Given the description of an element on the screen output the (x, y) to click on. 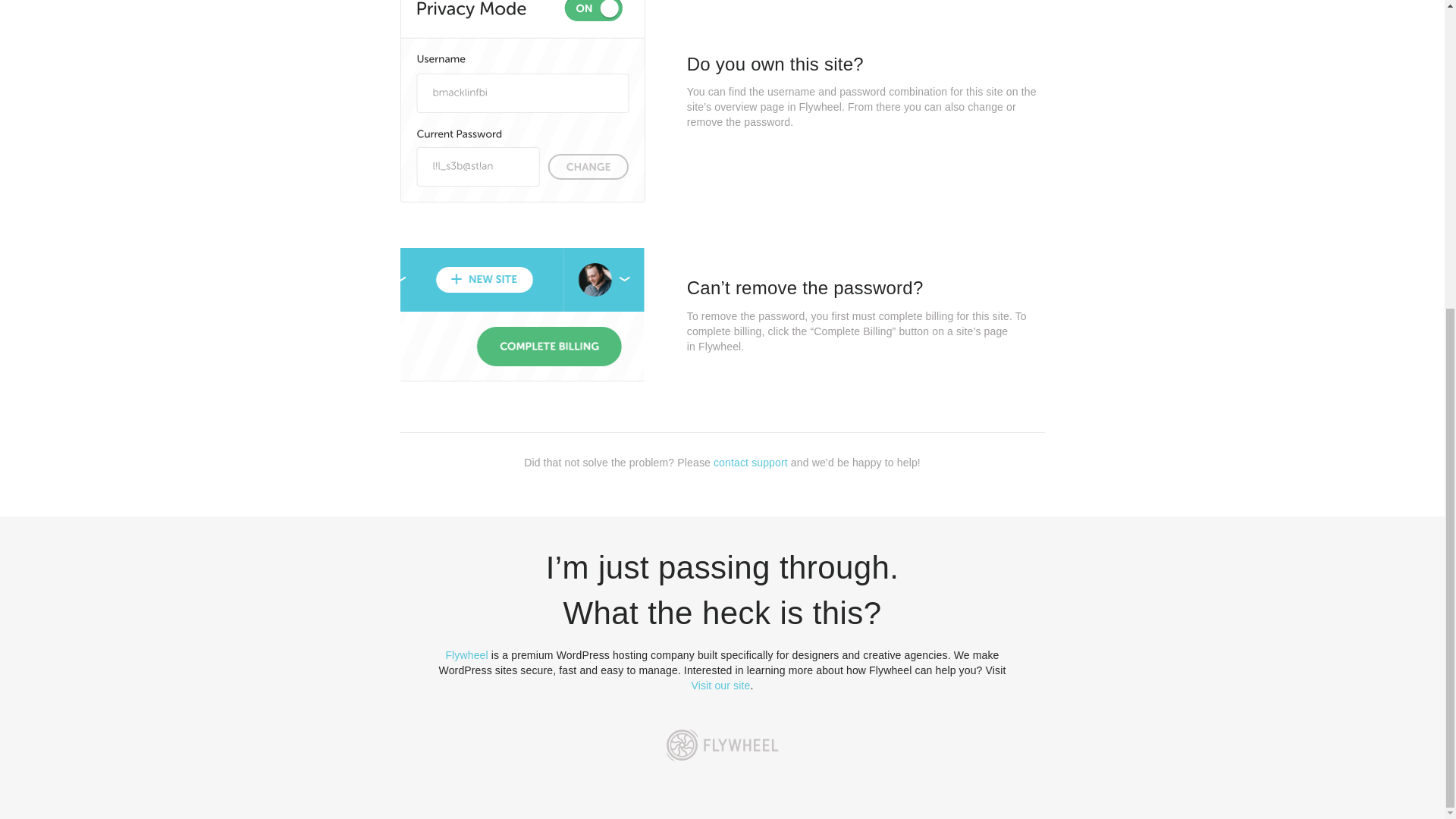
Flywheel (466, 654)
Visit our site (721, 685)
contact support (750, 462)
